Given the description of an element on the screen output the (x, y) to click on. 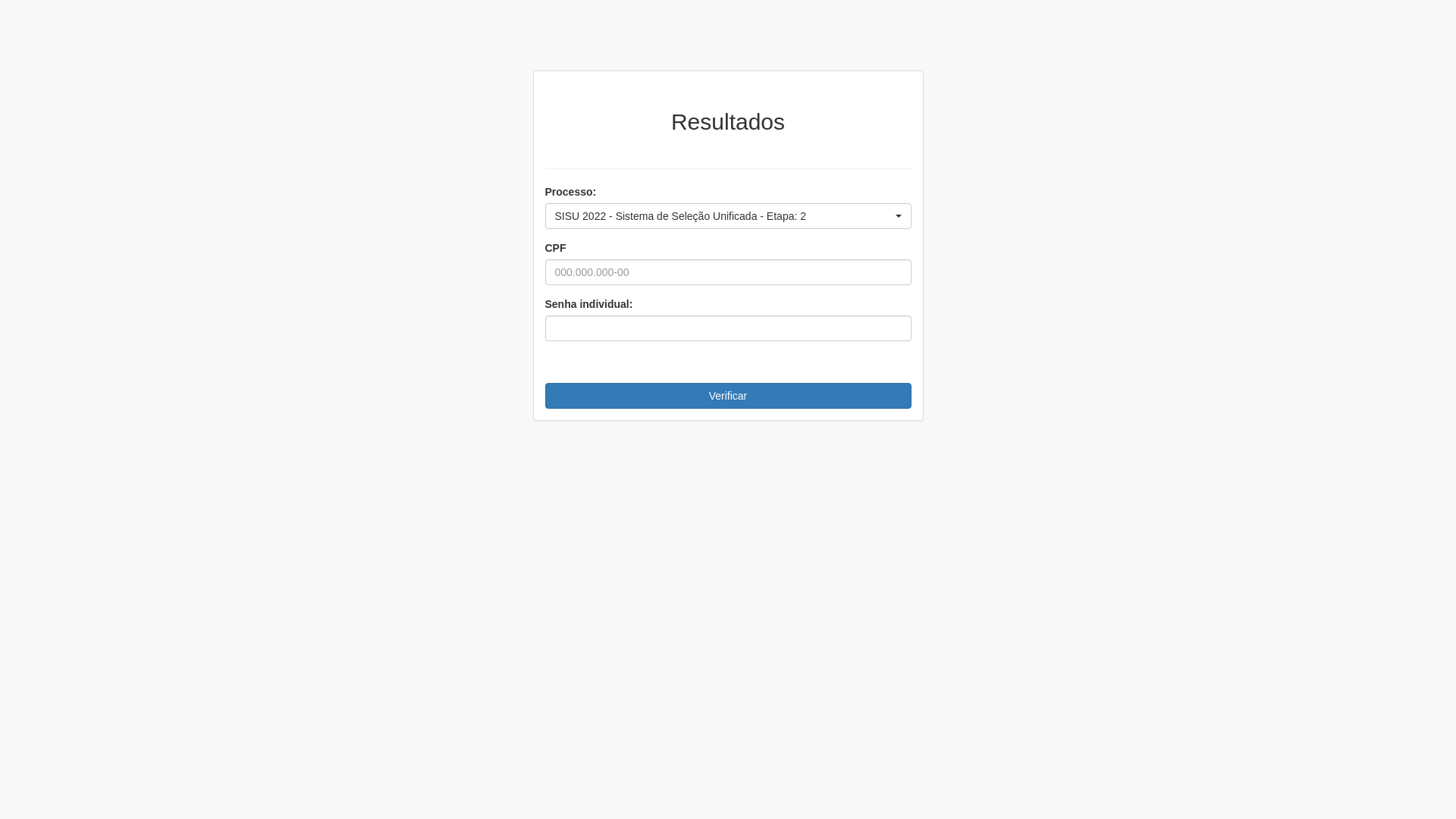
Verificar Element type: text (727, 395)
